Given the description of an element on the screen output the (x, y) to click on. 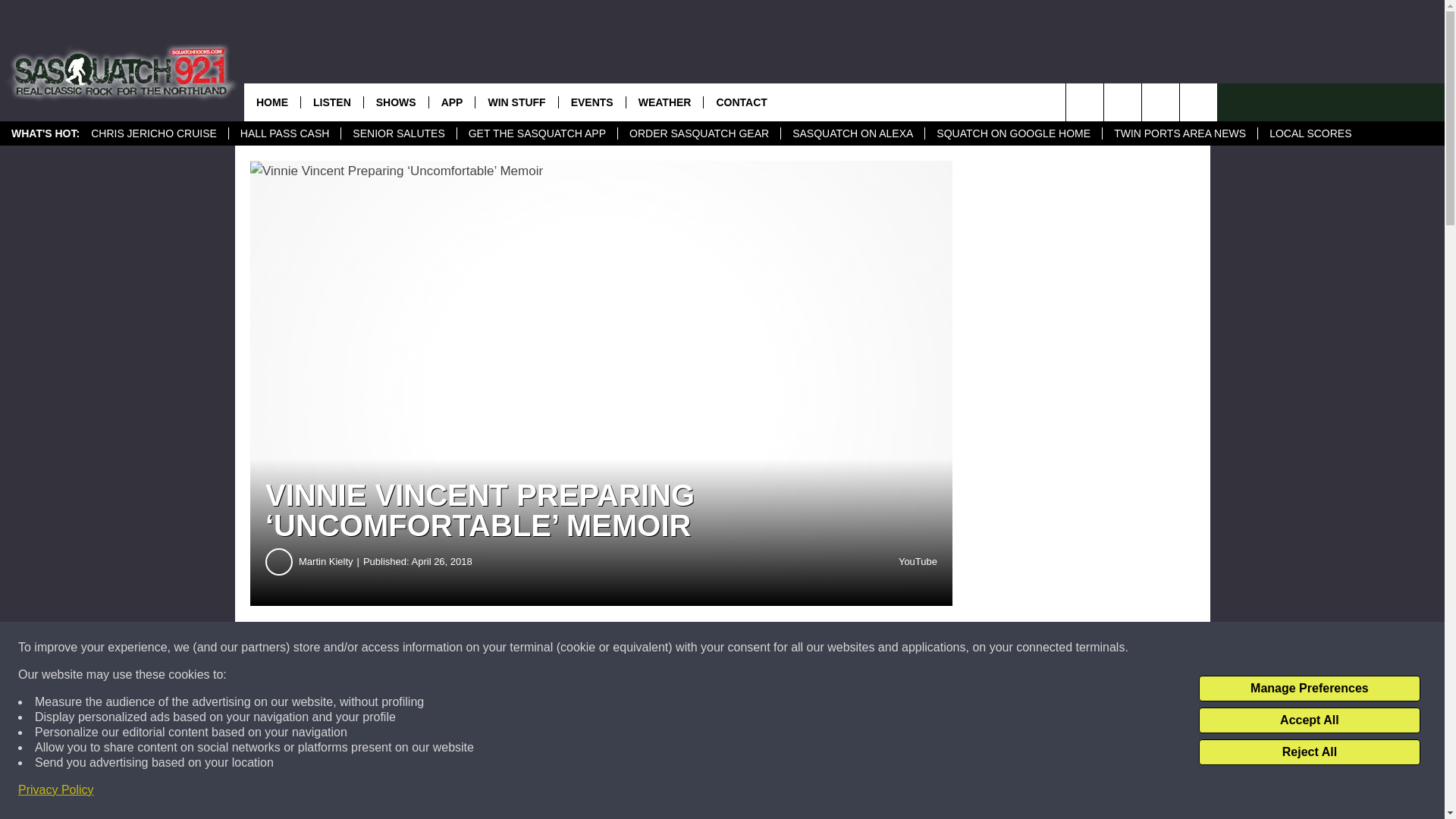
LOCAL SCORES (1309, 133)
TWIN PORTS AREA NEWS (1179, 133)
Reject All (1309, 751)
Share on Facebook (460, 647)
CHRIS JERICHO CRUISE (154, 133)
Accept All (1309, 720)
GET THE SASQUATCH APP (537, 133)
HOME (271, 102)
SASQUATCH ON ALEXA (852, 133)
Privacy Policy (55, 789)
